Given the description of an element on the screen output the (x, y) to click on. 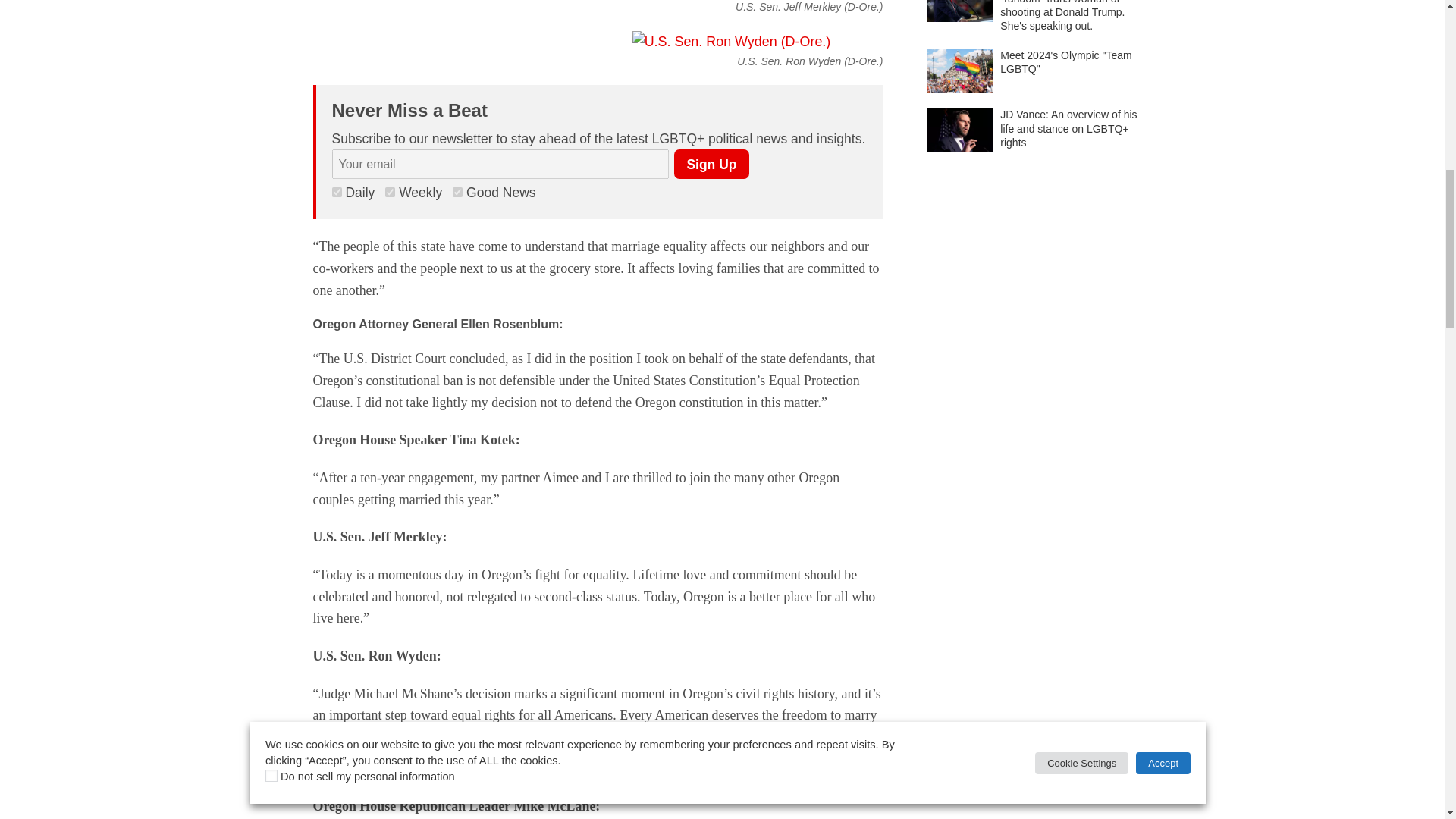
1920884 (389, 192)
1920883 (457, 192)
Sign Up (711, 164)
1920885 (336, 192)
